Given the description of an element on the screen output the (x, y) to click on. 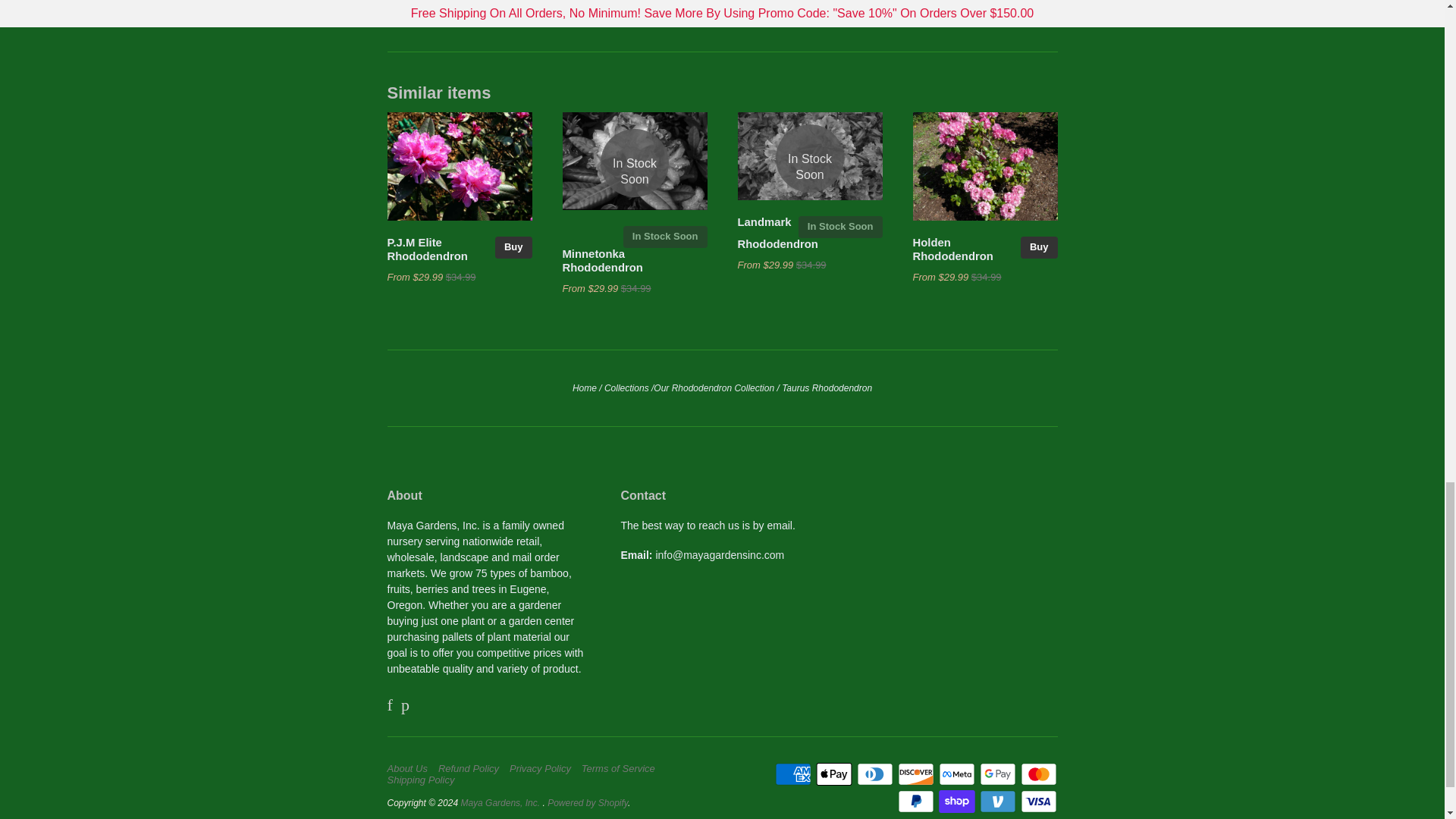
Minnetonka Rhododendron (602, 260)
Privacy Policy (543, 768)
Refund Policy (472, 768)
In Stock Soon (839, 227)
Buy (513, 247)
Landmark Rhododendron (776, 233)
In Stock Soon (665, 237)
P.J.M Elite Rhododendron (427, 249)
Shipping Policy (424, 779)
Buy (1039, 247)
Terms of Service (621, 768)
Holden Rhododendron (952, 249)
About Us (410, 768)
In Stock Soon (809, 158)
In Stock Soon (634, 163)
